Given the description of an element on the screen output the (x, y) to click on. 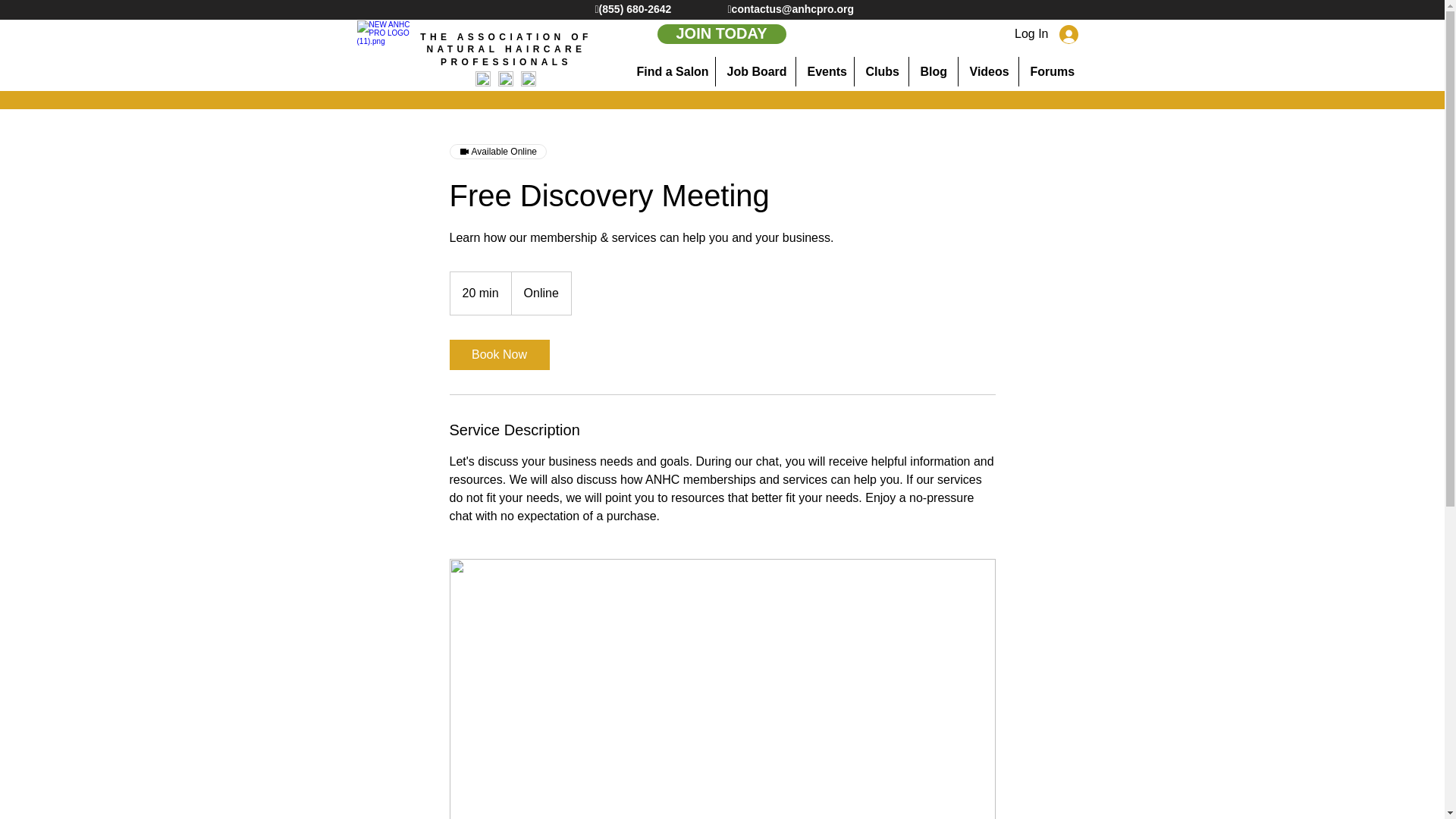
JOIN TODAY (721, 34)
Blog (932, 71)
Find a Salon (669, 71)
Events (824, 71)
Forums (1051, 71)
Videos (987, 71)
Log In (1066, 34)
Job Board (755, 71)
Clubs (880, 71)
Book Now (498, 354)
